Given the description of an element on the screen output the (x, y) to click on. 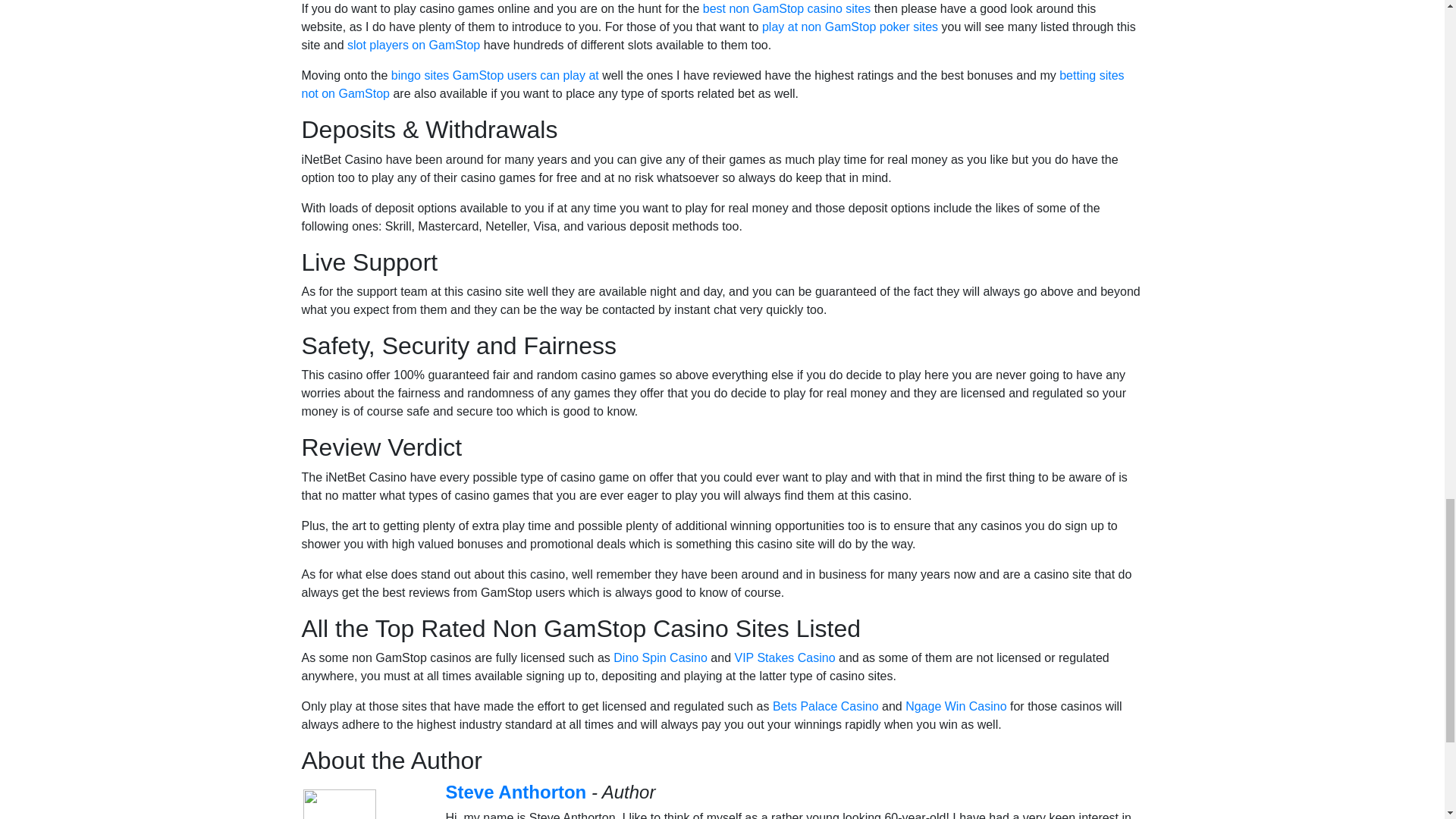
slot players on GamStop (413, 44)
play at non GamStop poker sites (849, 26)
best non GamStop casino sites (786, 8)
Bets Palace Casino (826, 706)
Steve Anthorton (515, 792)
VIP Stakes Casino (783, 657)
Ngage Win Casino (955, 706)
Contact Me (386, 818)
betting sites not on GamStop (712, 83)
bingo sites GamStop users can play at (494, 74)
